Given the description of an element on the screen output the (x, y) to click on. 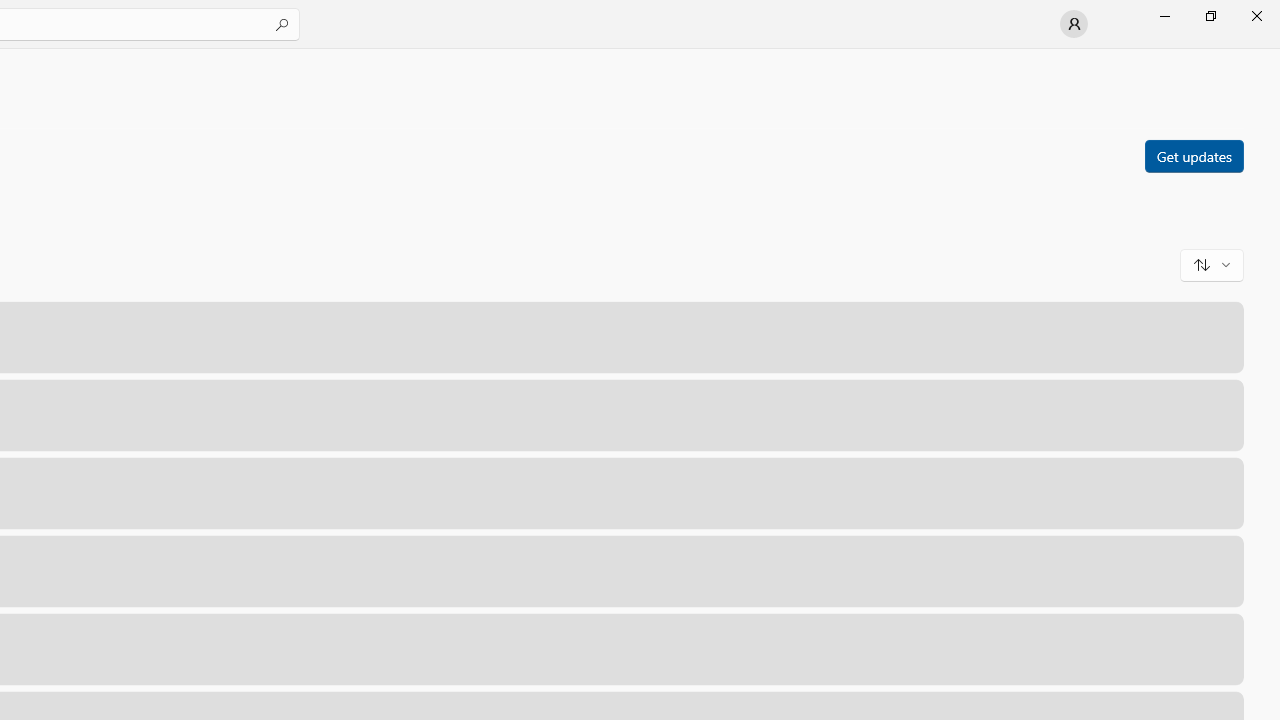
Minimize Microsoft Store (1164, 15)
Close Microsoft Store (1256, 15)
Open (1123, 648)
User profile (1073, 24)
Sort and filter (1212, 263)
More options (1215, 648)
Restore Microsoft Store (1210, 15)
Get updates (1193, 155)
